Given the description of an element on the screen output the (x, y) to click on. 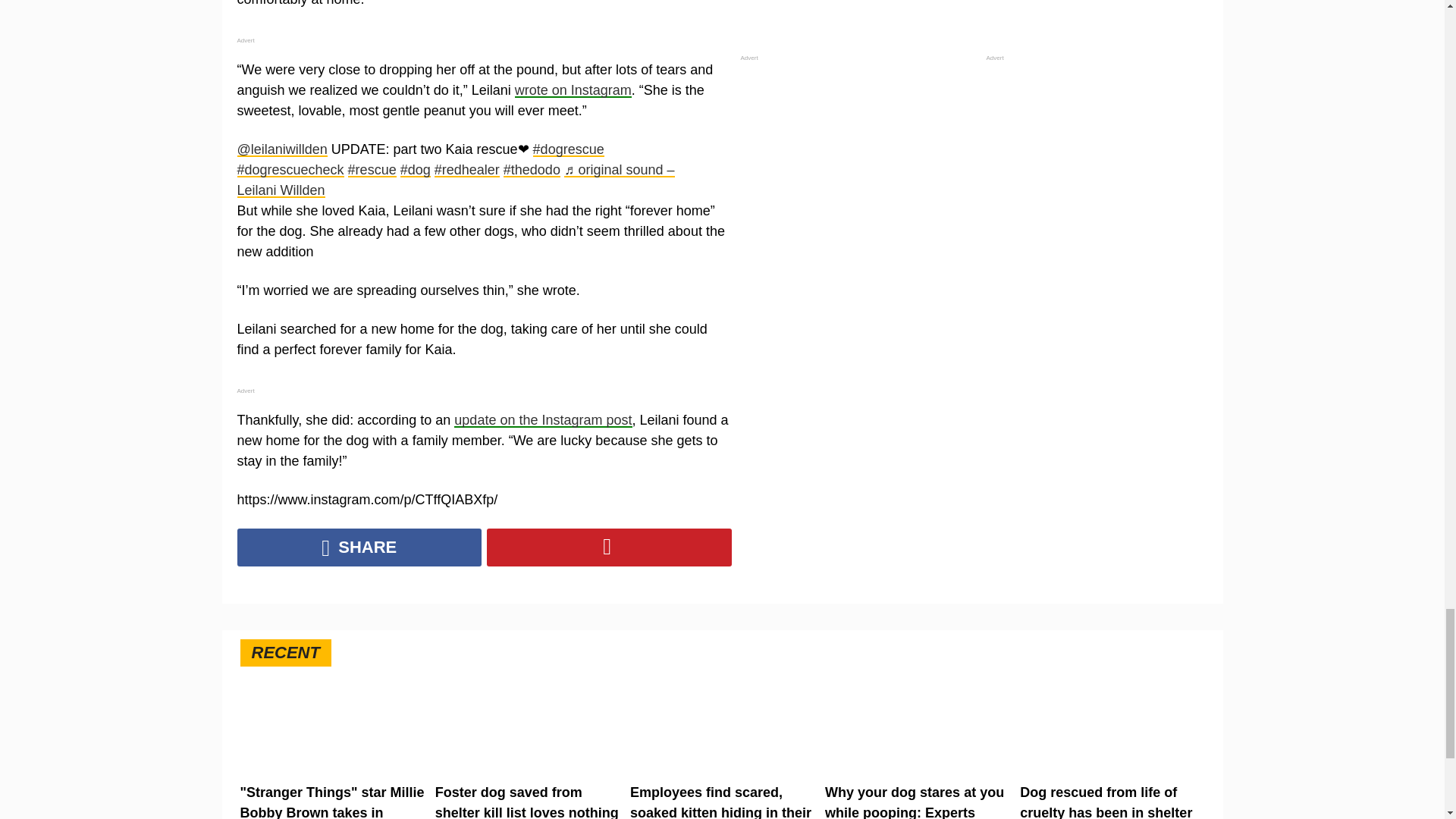
dog (415, 169)
dogrescue (568, 149)
dogrescuecheck (289, 169)
rescue (371, 169)
redhealer (466, 169)
thedodo (531, 169)
SHARE (358, 547)
update on the Instagram post (542, 419)
